Given the description of an element on the screen output the (x, y) to click on. 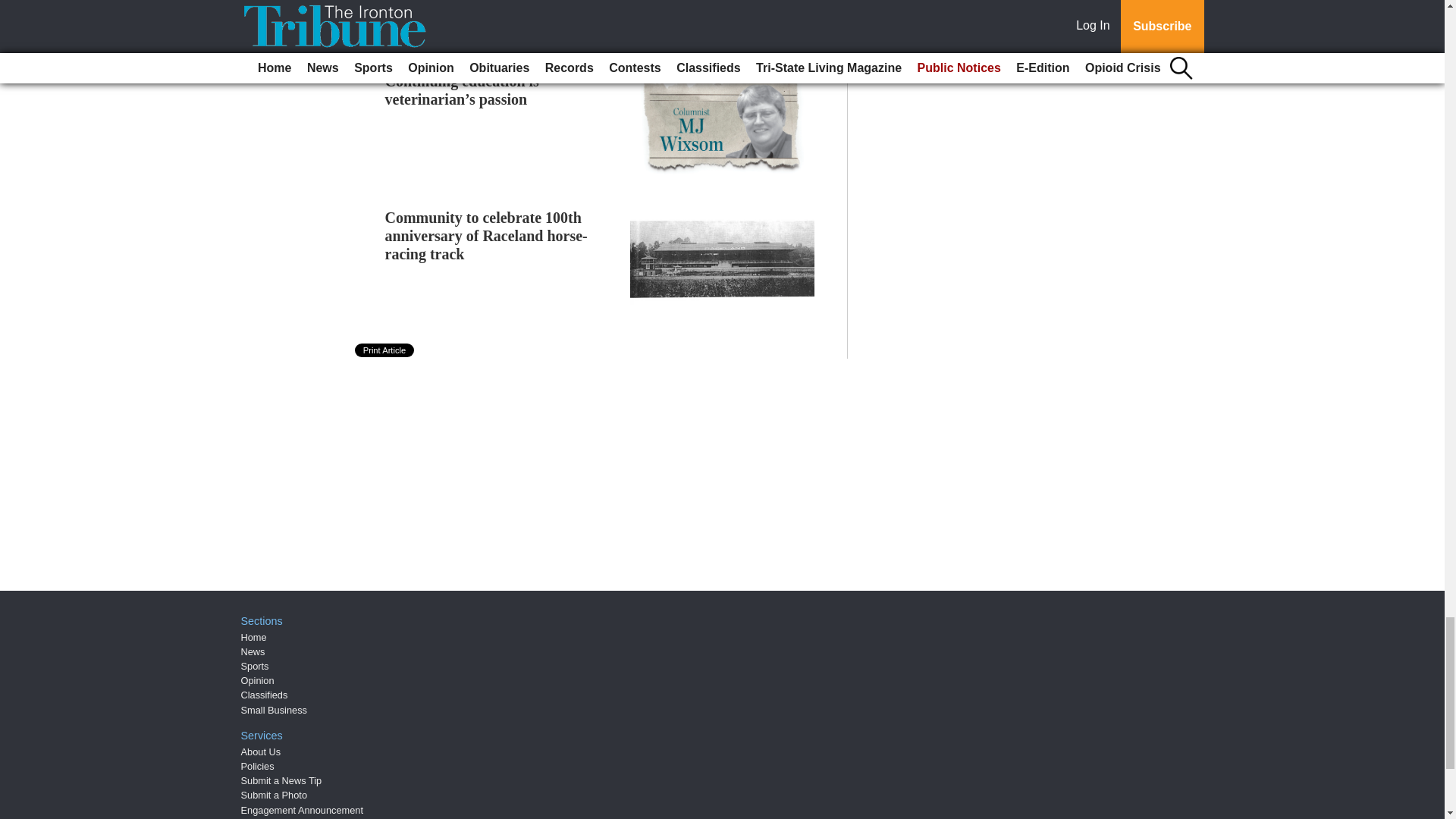
Print Article (384, 350)
Reds beat Braves 4-1 to snap 4-game losing skid (540, 29)
Reds beat Braves 4-1 to snap 4-game losing skid (540, 29)
